Given the description of an element on the screen output the (x, y) to click on. 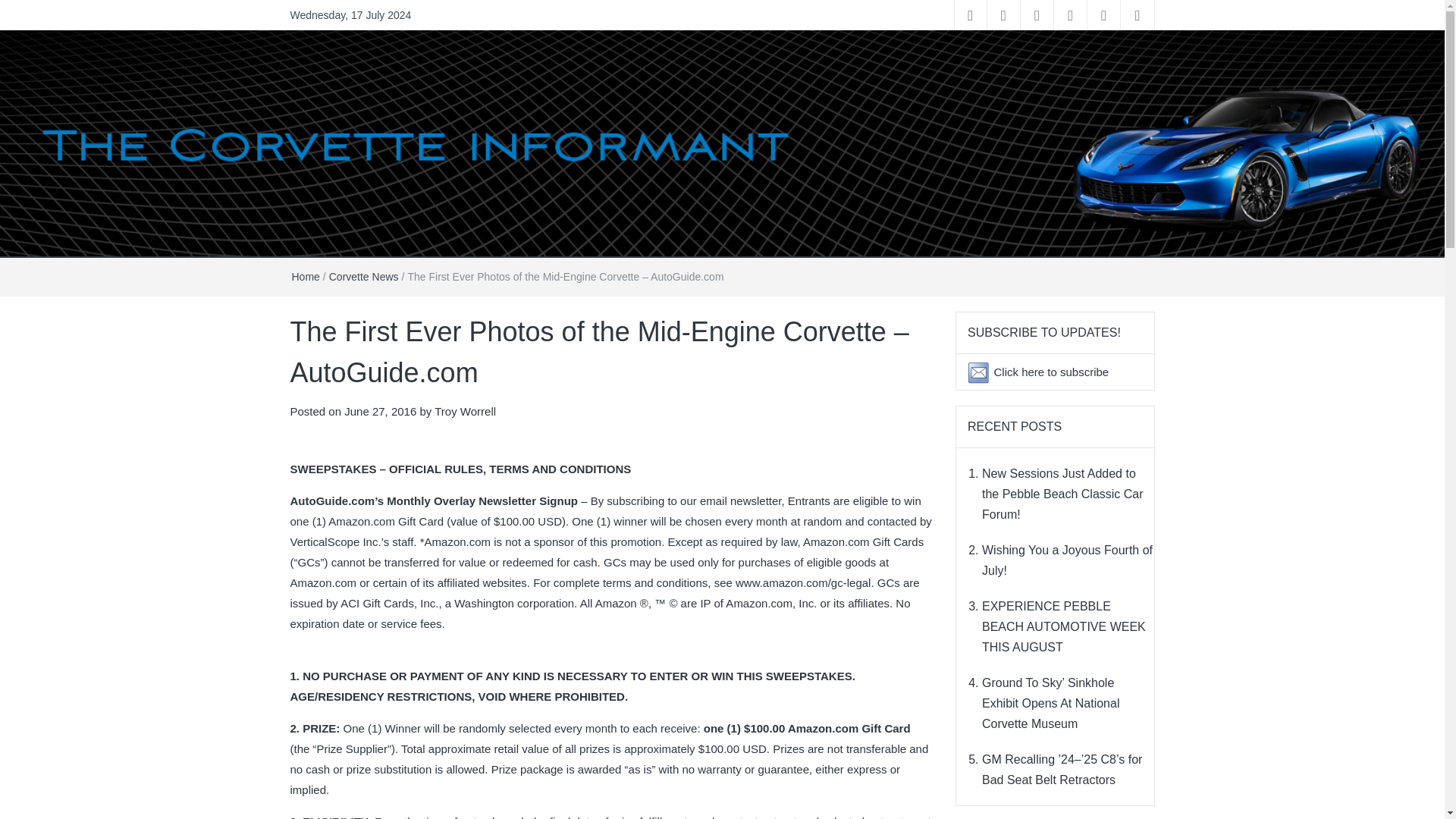
Click here to subscribe (1050, 371)
Corvette News (363, 276)
Wishing You a Joyous Fourth of July! (1067, 560)
Troy Worrell (464, 410)
EXPERIENCE PEBBLE BEACH AUTOMOTIVE WEEK THIS AUGUST (1063, 626)
June 27, 2016 (379, 410)
Home (304, 276)
